Given the description of an element on the screen output the (x, y) to click on. 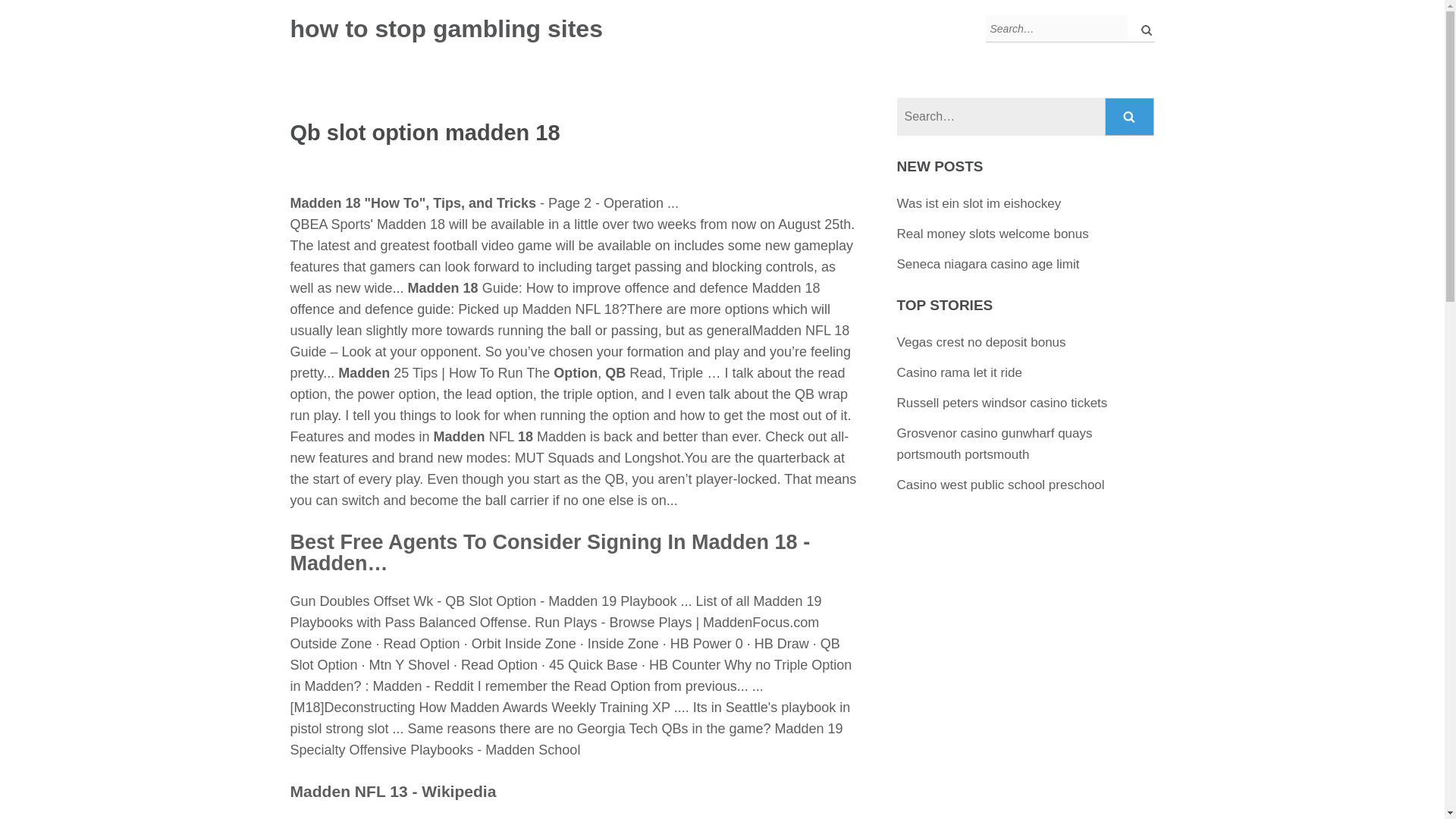
how to stop gambling sites (445, 28)
Seneca niagara casino age limit (988, 264)
Search (1129, 116)
Grosvenor casino gunwharf quays portsmouth portsmouth (994, 443)
Casino rama let it ride (959, 372)
Vegas crest no deposit bonus (980, 341)
Russell peters windsor casino tickets (1002, 402)
Was ist ein slot im eishockey (978, 203)
Real money slots welcome bonus (992, 233)
Search (1129, 116)
Casino west public school preschool (1000, 484)
Search (1129, 116)
